Given the description of an element on the screen output the (x, y) to click on. 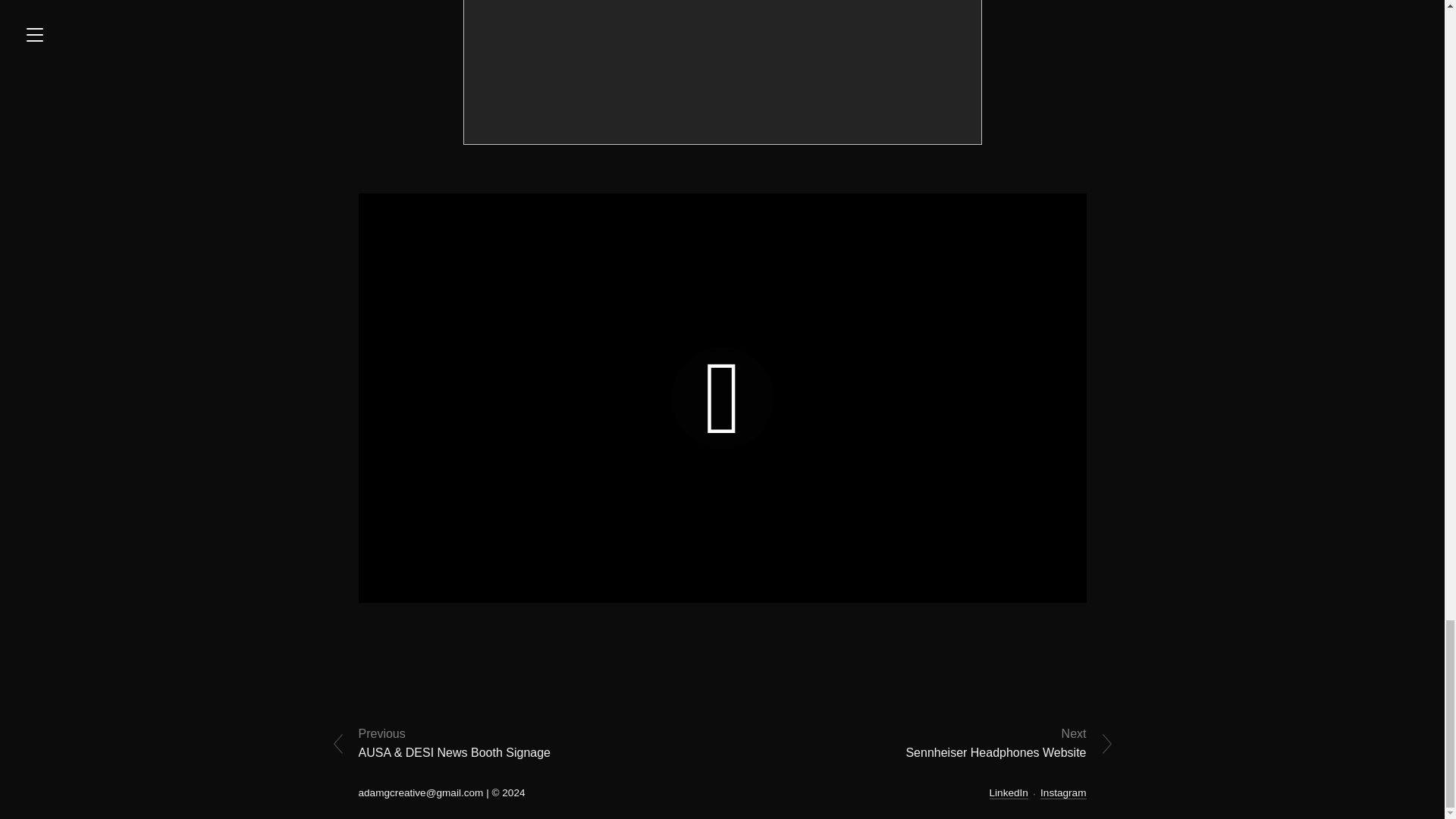
LinkedIn (1008, 793)
Instagram (1063, 793)
